Given the description of an element on the screen output the (x, y) to click on. 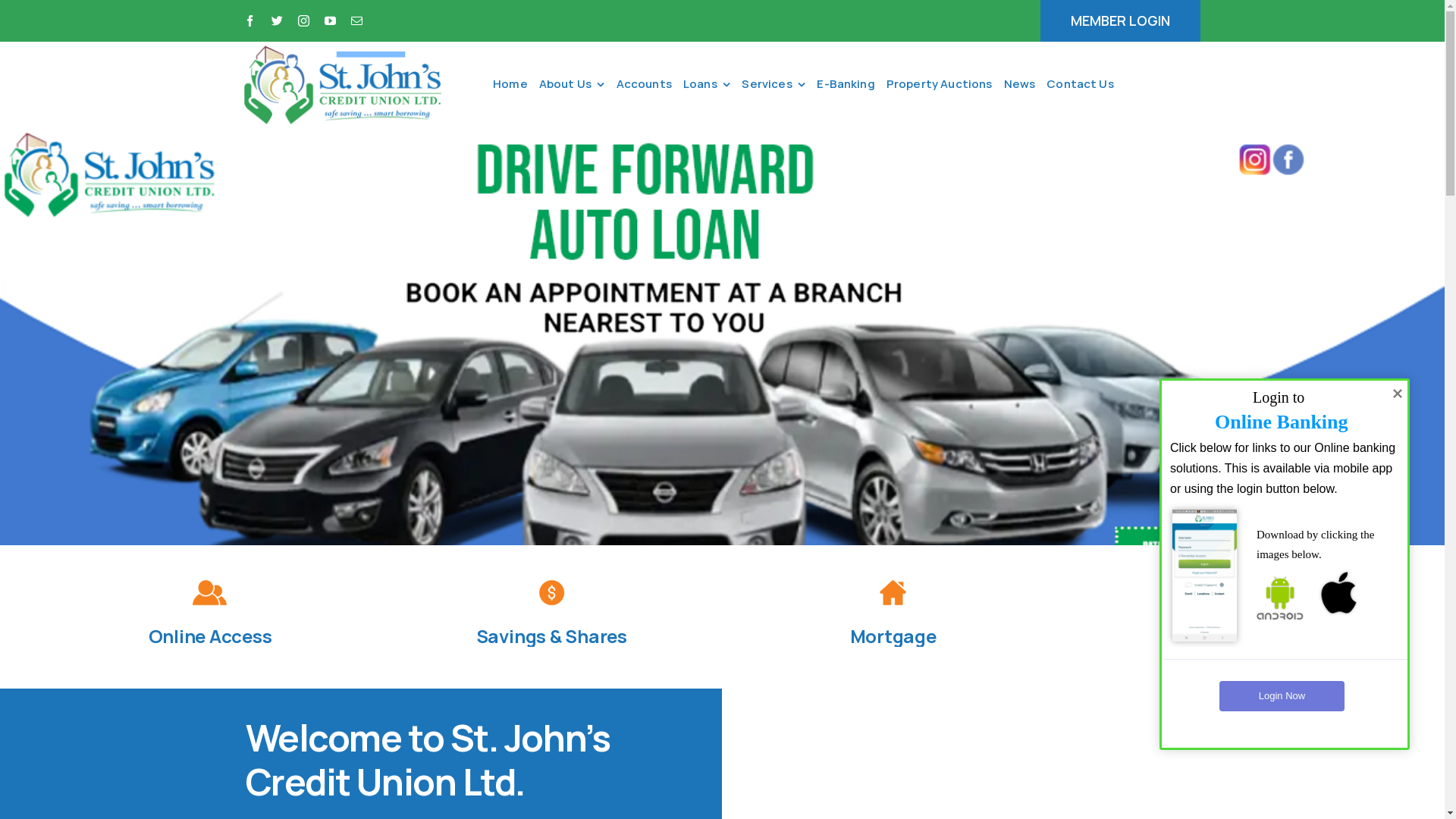
Loans Element type: text (712, 84)
Contact Us Element type: text (1085, 84)
News Element type: text (1025, 84)
Login Now Element type: text (1281, 695)
Services Element type: text (778, 84)
Accounts Element type: text (649, 84)
E-Banking Element type: text (850, 84)
Property Auctions Element type: text (945, 84)
MEMBER LOGIN Element type: text (1120, 20)
About Us Element type: text (577, 84)
Click Here Element type: text (1112, 145)
Home Element type: text (515, 84)
